Given the description of an element on the screen output the (x, y) to click on. 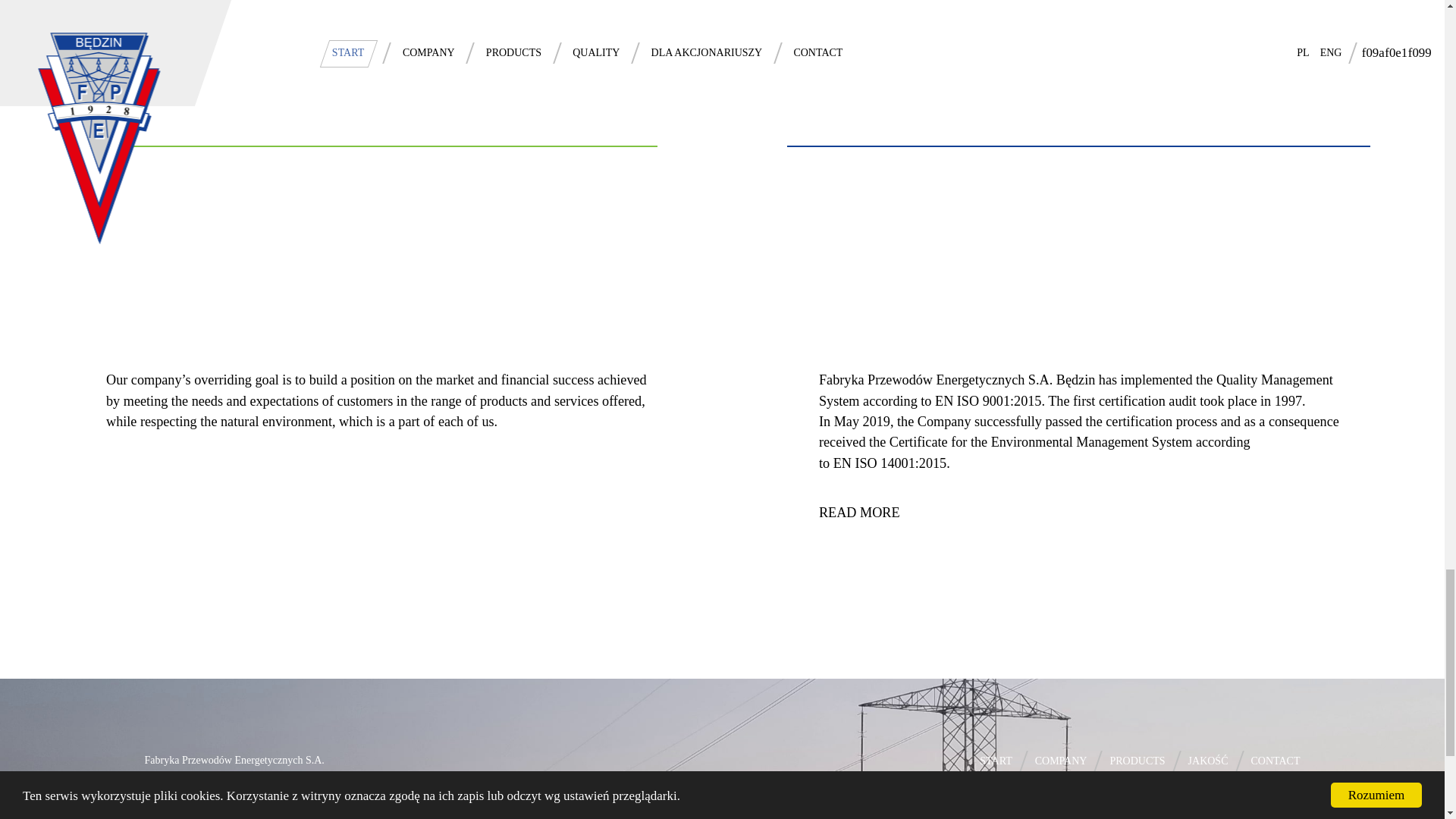
COMPANY (1061, 760)
START (995, 760)
PRODUCTS (1136, 760)
CONTACT (1275, 760)
READ MORE (858, 512)
